Given the description of an element on the screen output the (x, y) to click on. 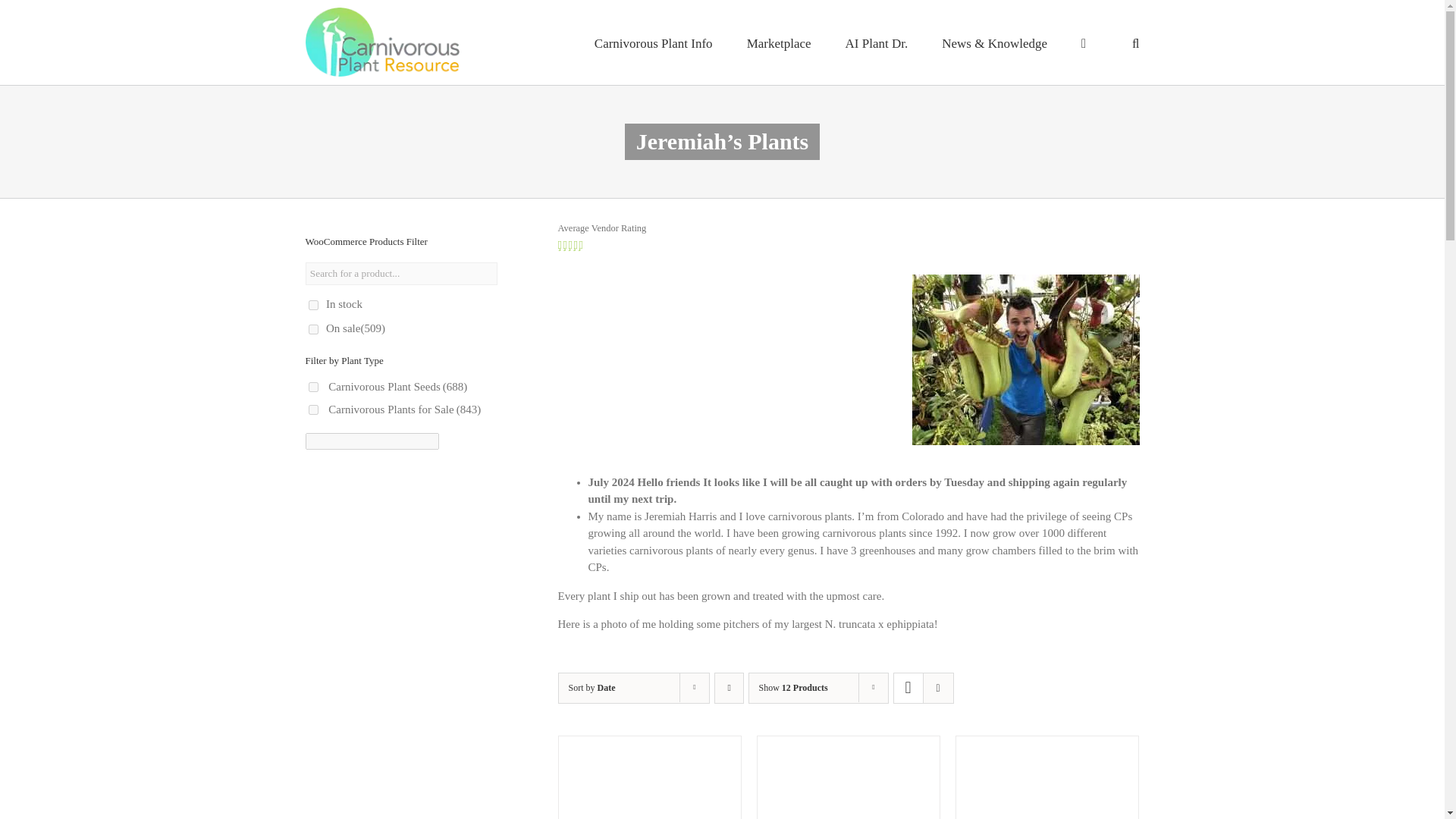
0 (312, 305)
482 (312, 409)
Carnivorous Plant Info (653, 42)
839 (312, 387)
0 (312, 329)
Rated 4.94 out of 5 (586, 244)
Carnivorous plant news and knowledge (994, 42)
